Given the description of an element on the screen output the (x, y) to click on. 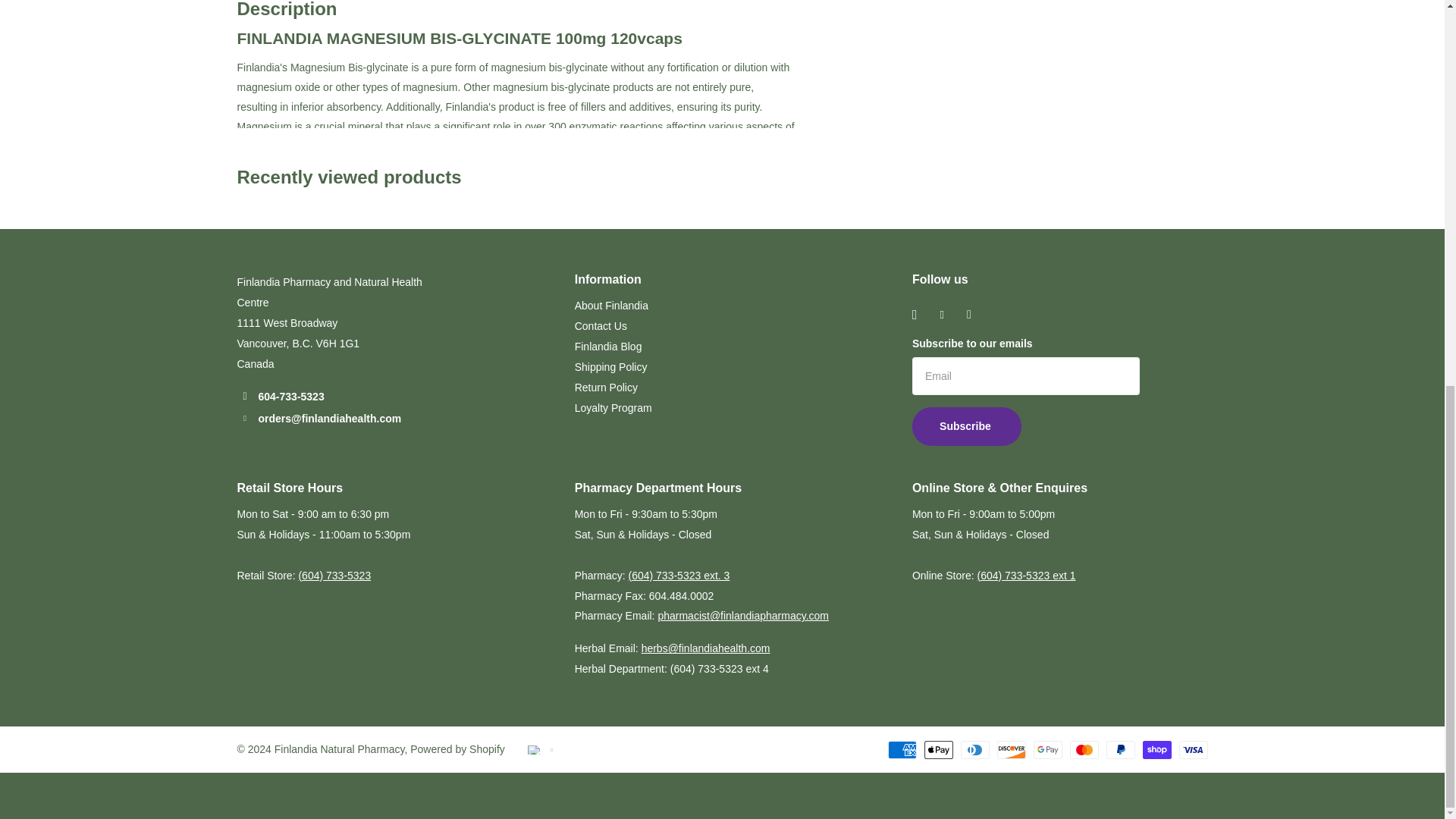
Visa (1192, 750)
PayPal (1119, 750)
Diners Club (973, 750)
American Express (900, 750)
Discover (1010, 750)
Mastercard (1082, 750)
Shop Pay (1155, 750)
Apple Pay (937, 750)
tel:6047335323 (334, 575)
Google Pay (1046, 750)
